Given the description of an element on the screen output the (x, y) to click on. 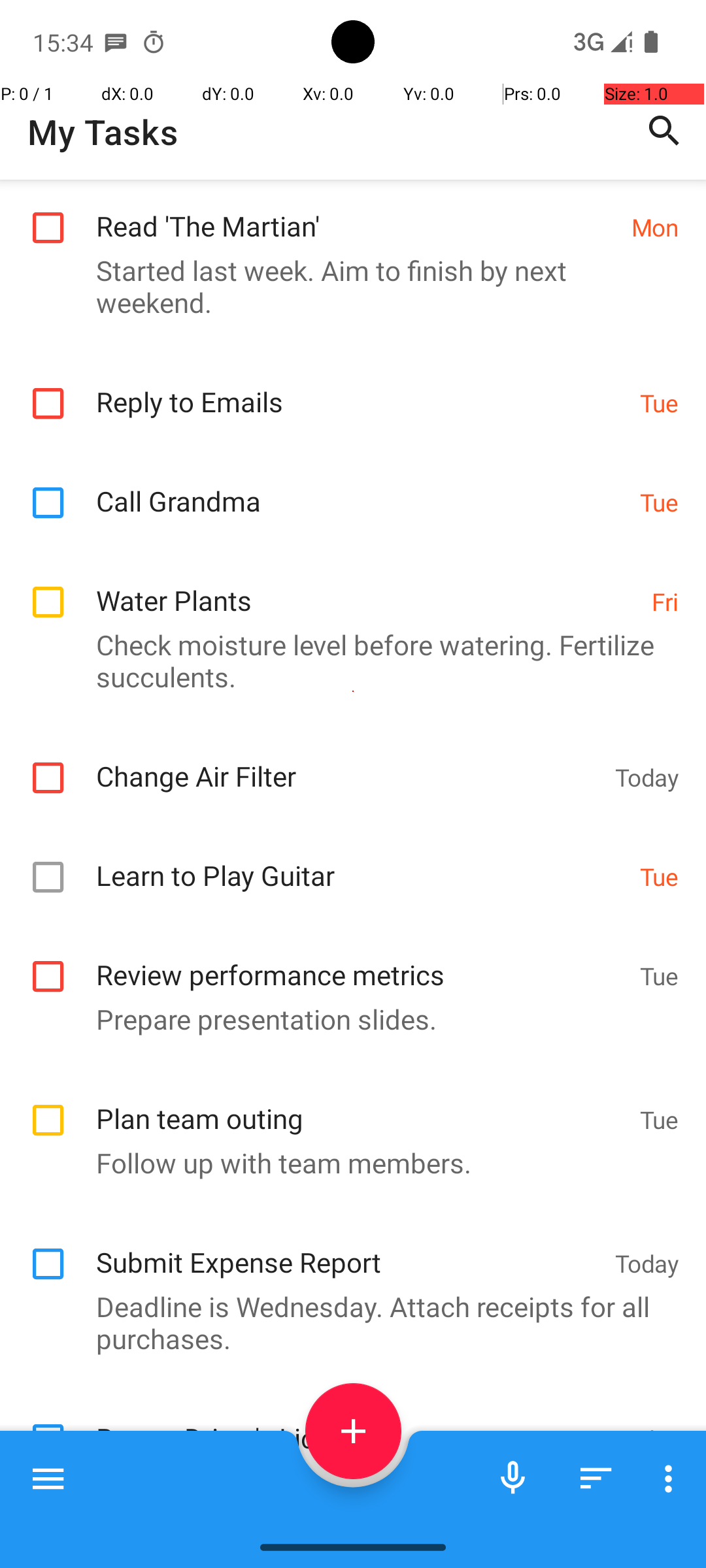
Review performance metrics Element type: android.widget.TextView (361, 960)
Prepare presentation slides. Element type: android.widget.TextView (346, 1018)
Plan team outing Element type: android.widget.TextView (361, 1104)
Follow up with team members. Element type: android.widget.TextView (346, 1162)
